Given the description of an element on the screen output the (x, y) to click on. 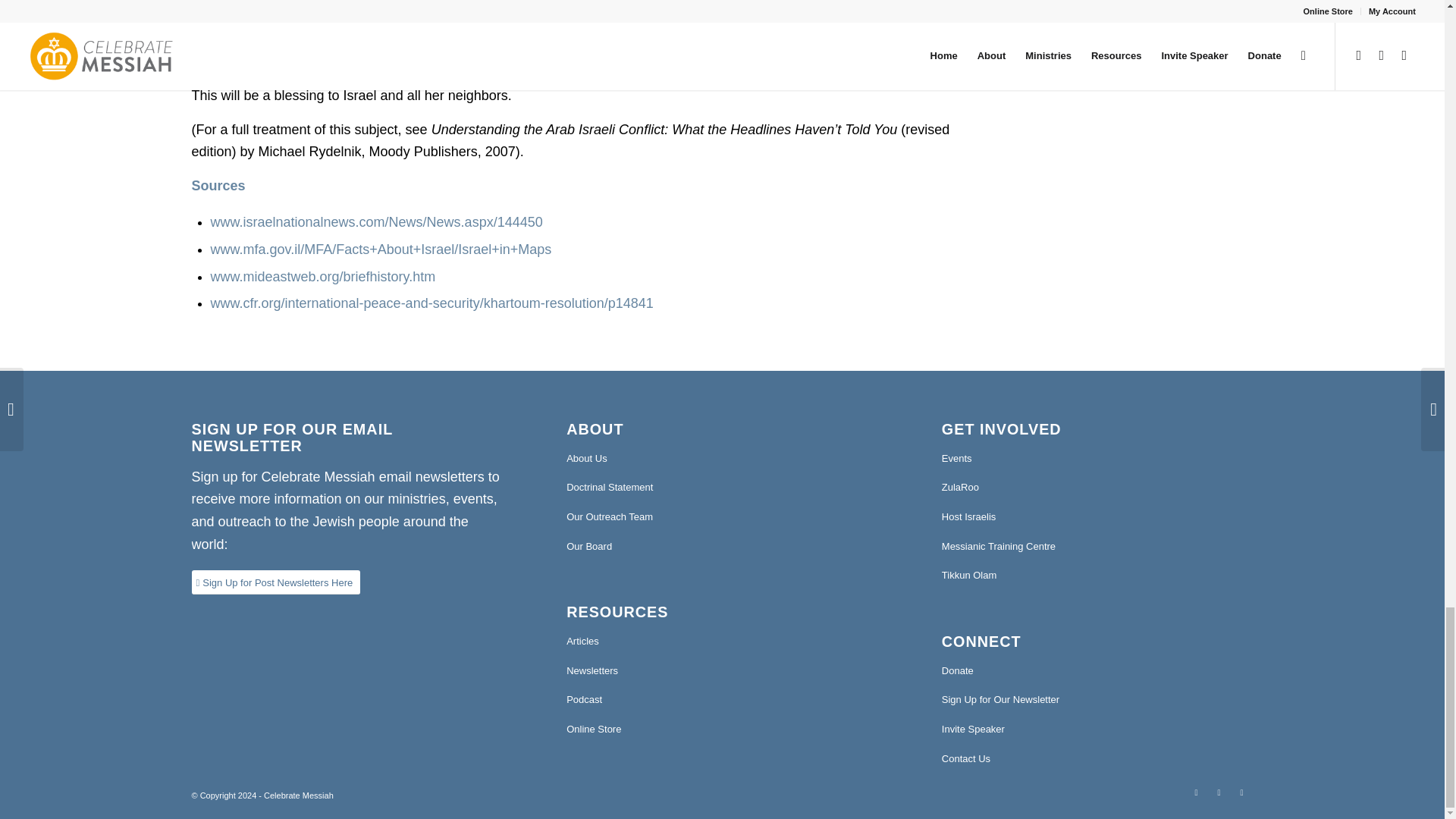
Instagram (1241, 792)
Facebook (1218, 792)
Youtube (1196, 792)
